Given the description of an element on the screen output the (x, y) to click on. 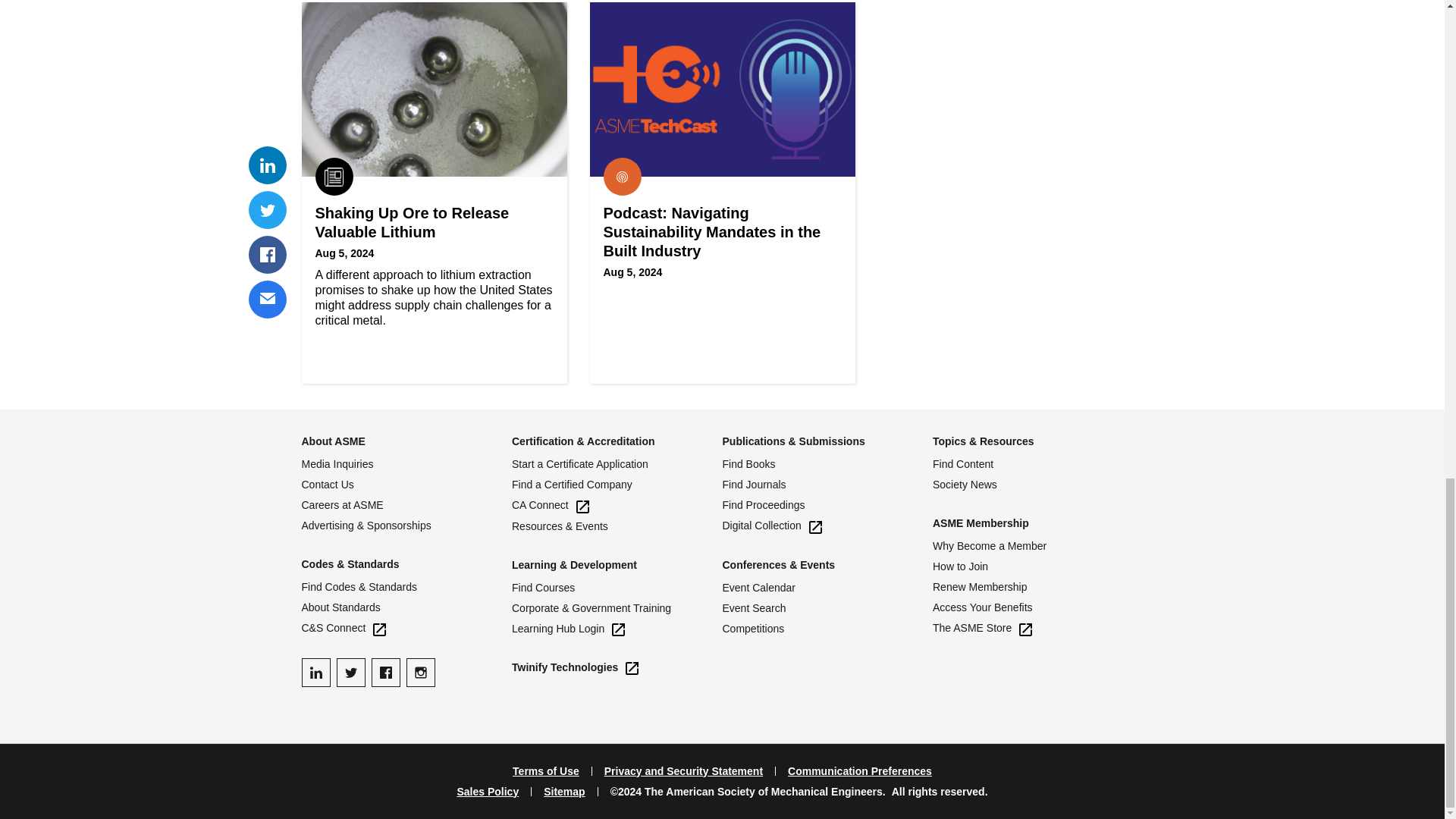
ASME on LinkedIn (315, 672)
About ASME (333, 440)
ASME on Facebook (385, 672)
ASME on Instagram (420, 672)
ASME on Twitter (350, 672)
Media Inquiries (406, 463)
